Given the description of an element on the screen output the (x, y) to click on. 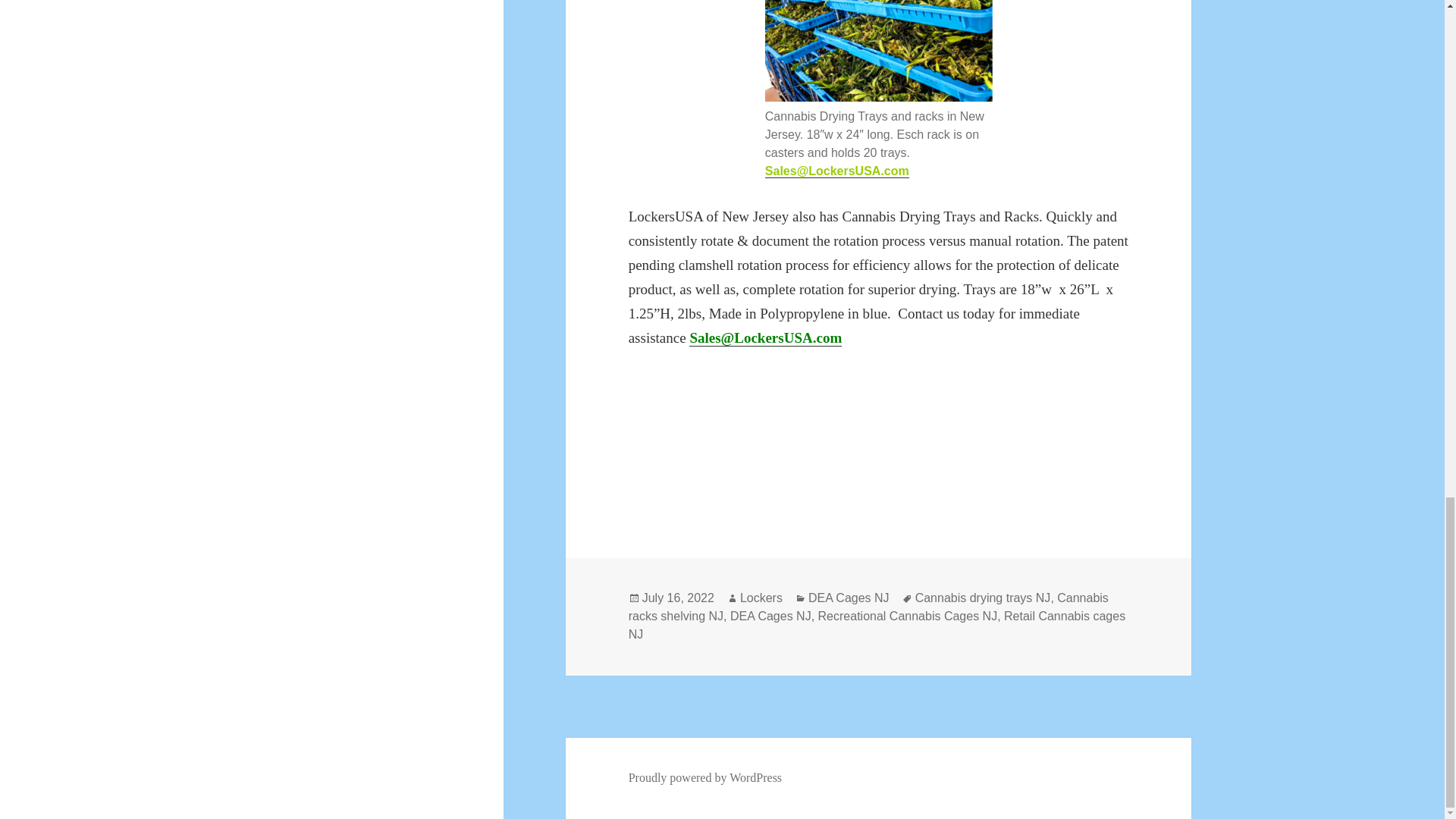
Lockers (761, 598)
DEA Cages NJ (770, 616)
DEA Cages NJ (848, 598)
July 16, 2022 (678, 598)
Retail Cannabis cages NJ (876, 625)
Recreational Cannabis Cages NJ (907, 616)
Proudly powered by WordPress (704, 777)
Cannabis drying trays NJ (983, 598)
Cannabis racks shelving NJ (868, 607)
